Given the description of an element on the screen output the (x, y) to click on. 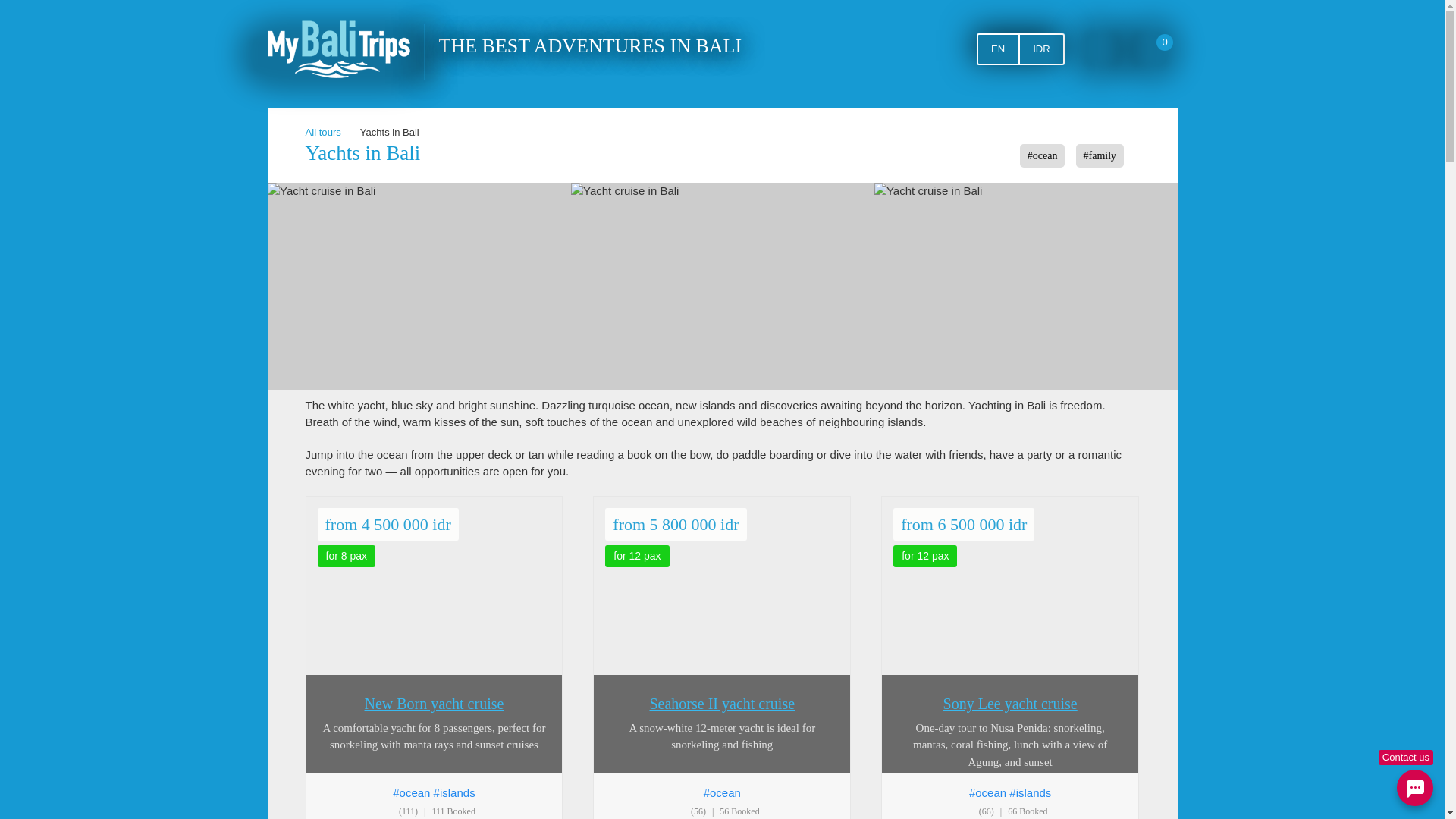
The best adventures in Bali (337, 48)
EN (997, 49)
Your orders (1153, 48)
0 (1153, 48)
All tours (322, 132)
IDR (1040, 49)
THE BEST ADVENTURES IN BALI (589, 45)
